Given the description of an element on the screen output the (x, y) to click on. 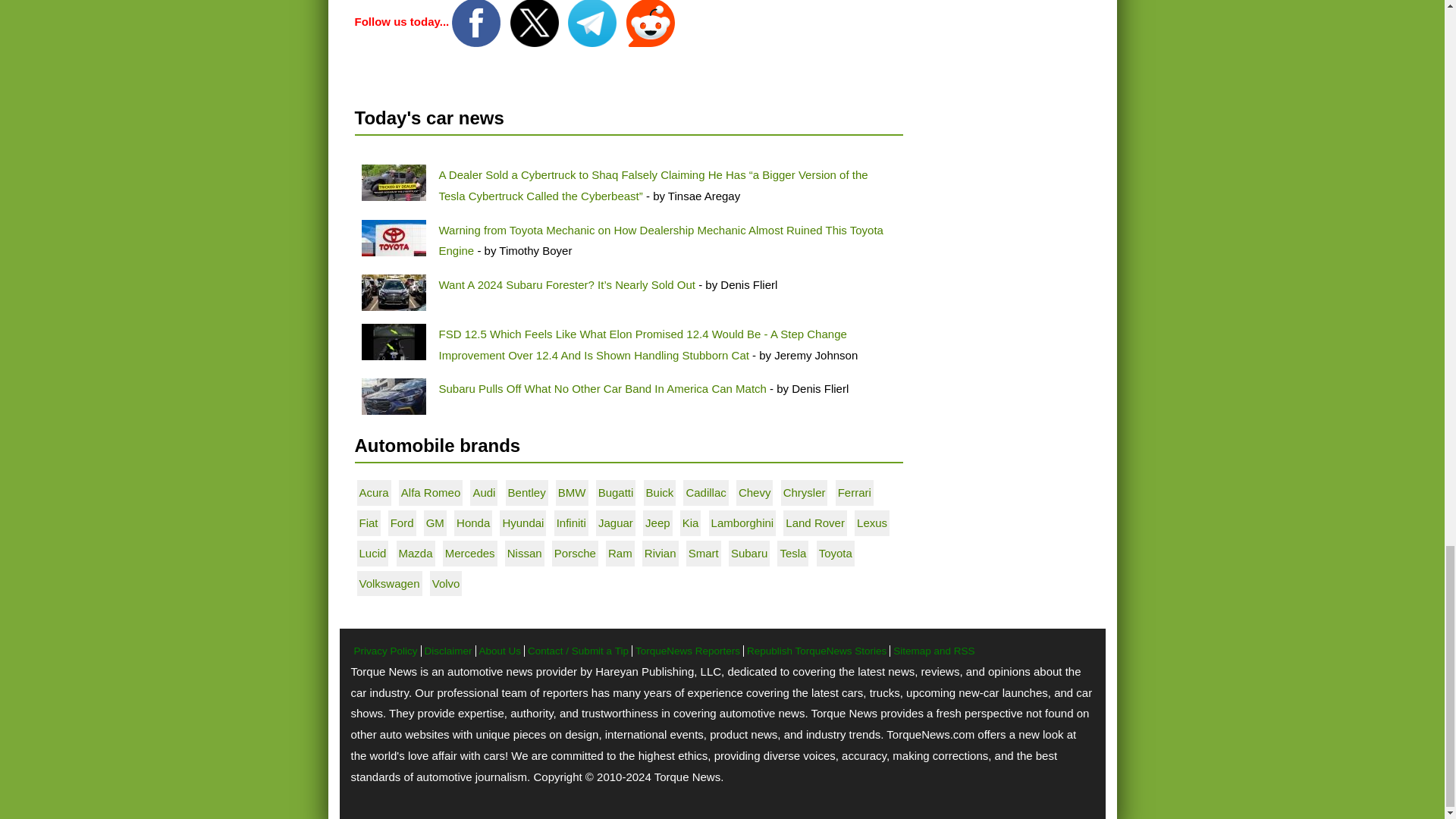
Acura (373, 492)
Alfa Romeo (430, 492)
Subaru Pulls Off What No Other Car Band In America Can Match (601, 388)
Common Way Car Owners Ruin Their Car's Engine (393, 238)
Audi (483, 492)
2024 Subaru Forester front view (393, 292)
2024 Subaru Crosstrek front end view  (393, 396)
Bentley (527, 492)
Join us on Telegram! (593, 21)
Join us on Reddit! (650, 21)
